Given the description of an element on the screen output the (x, y) to click on. 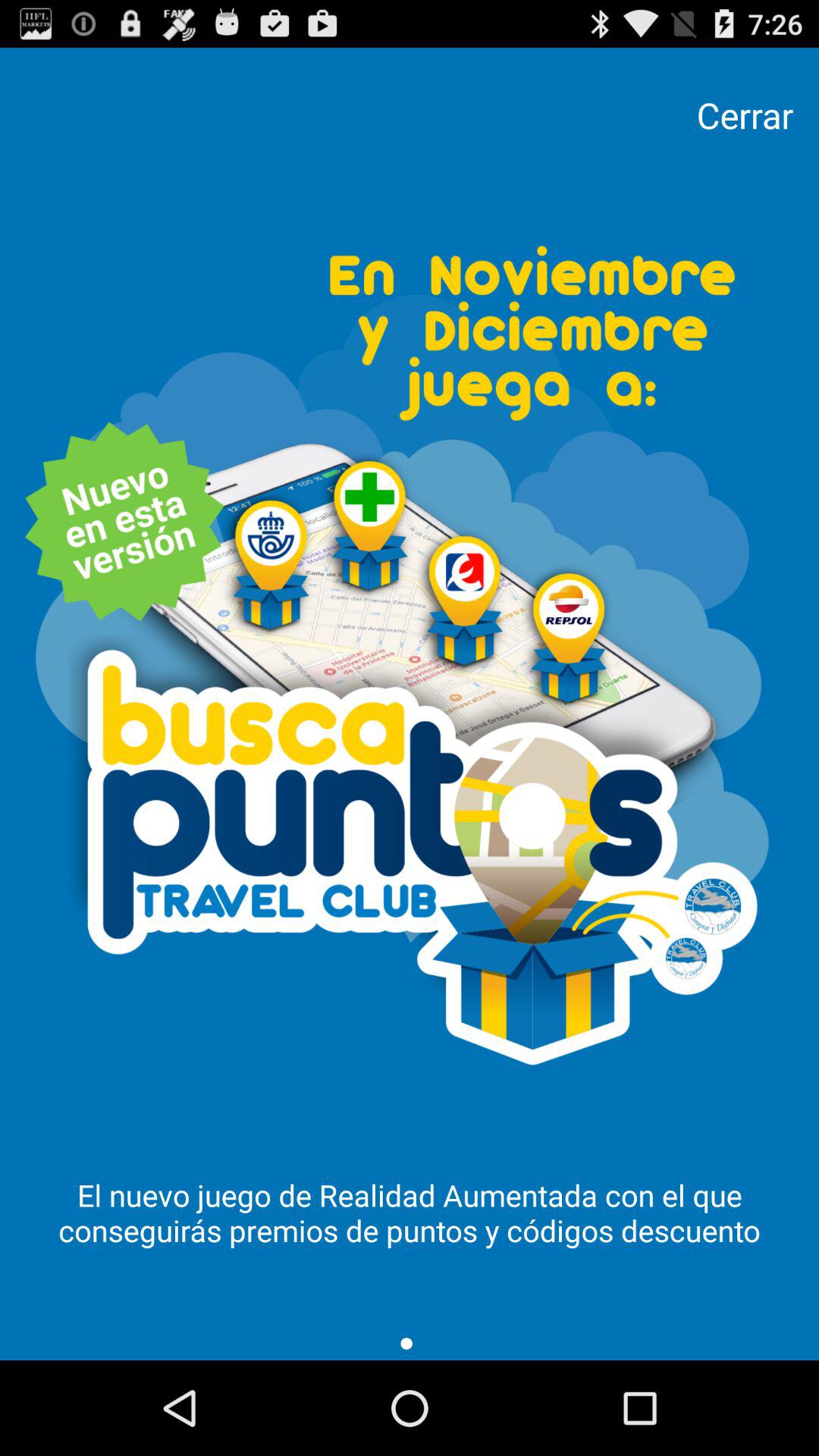
open cerrar at the top right corner (744, 115)
